Given the description of an element on the screen output the (x, y) to click on. 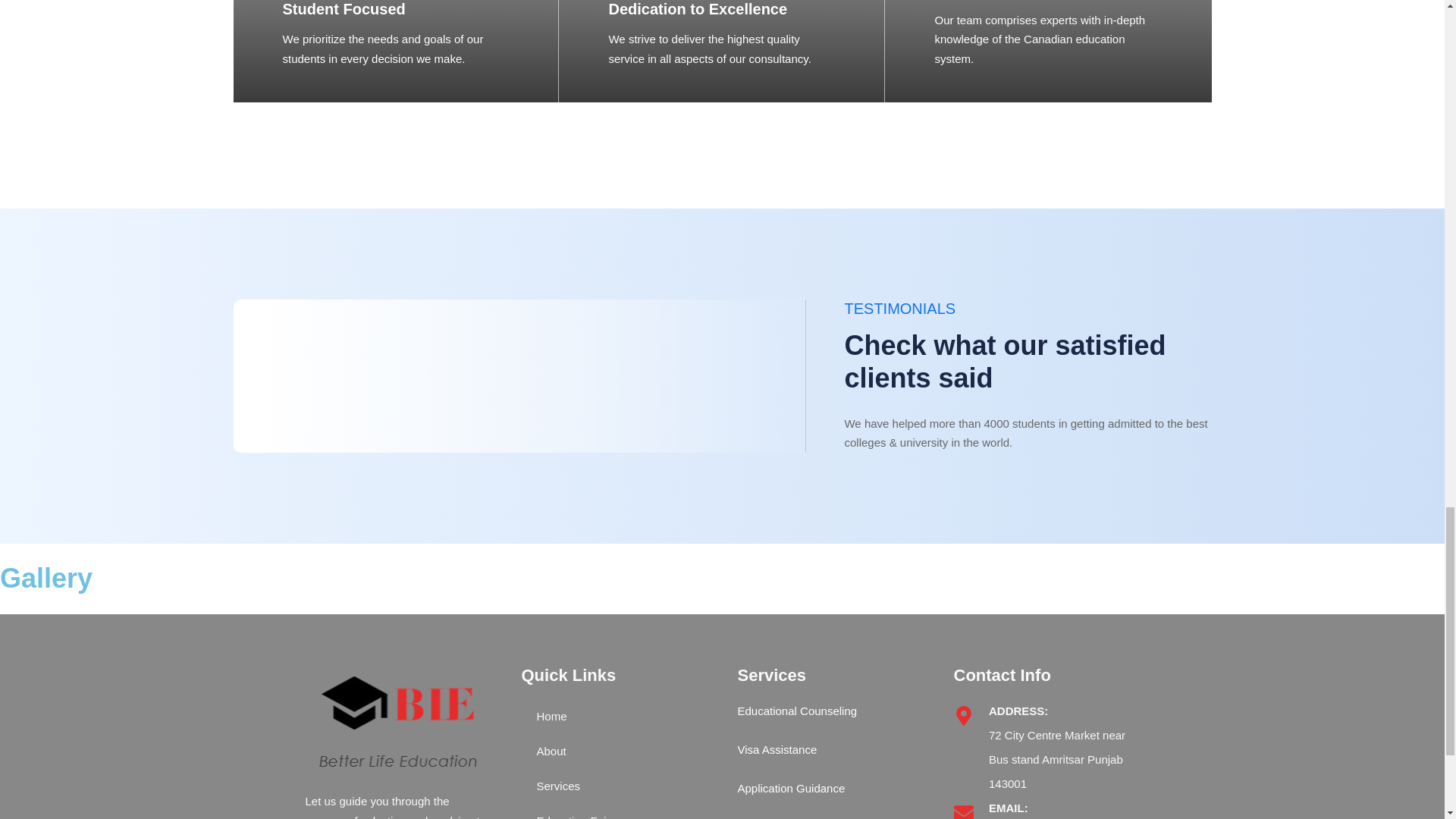
Home (614, 716)
About (614, 751)
Education Fairs (614, 811)
Services (614, 786)
